Given the description of an element on the screen output the (x, y) to click on. 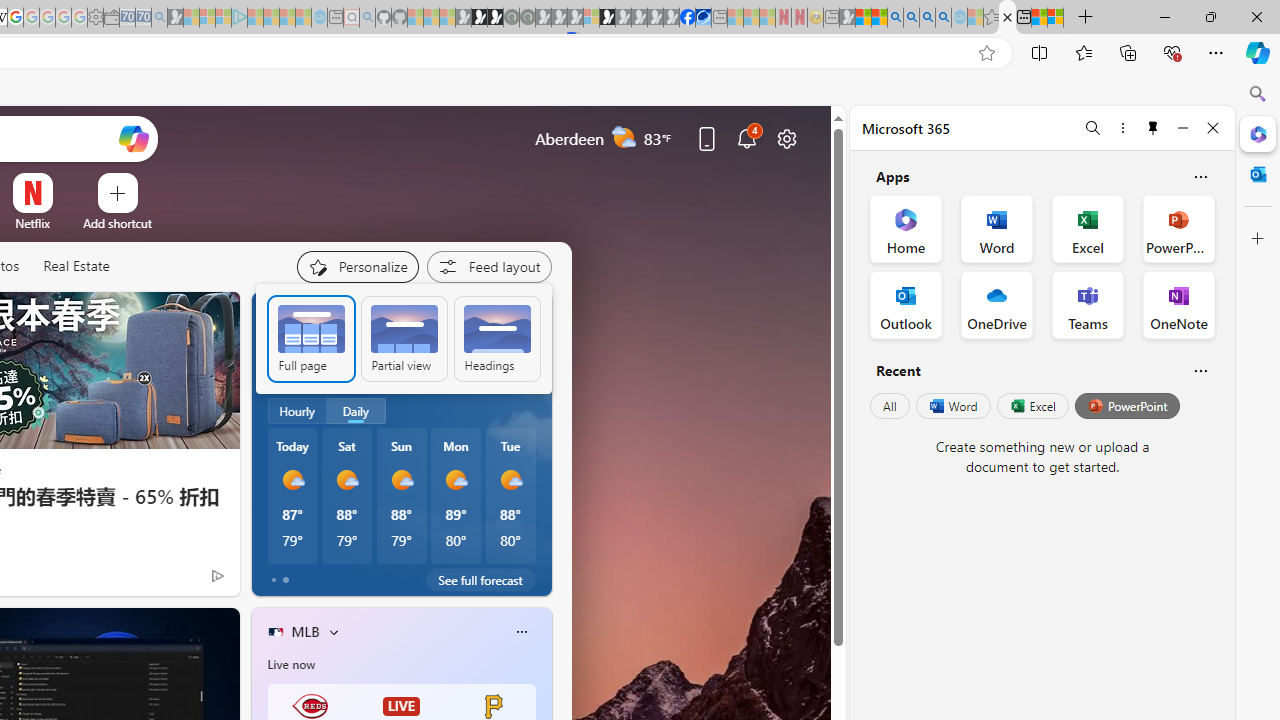
Partial view (403, 338)
tab-1 (285, 579)
Nordace | Facebook (687, 17)
Daily (356, 411)
AutomationID: feedSettings (402, 338)
Unpin side pane (1153, 127)
Settings - Sleeping (95, 17)
